Given the description of an element on the screen output the (x, y) to click on. 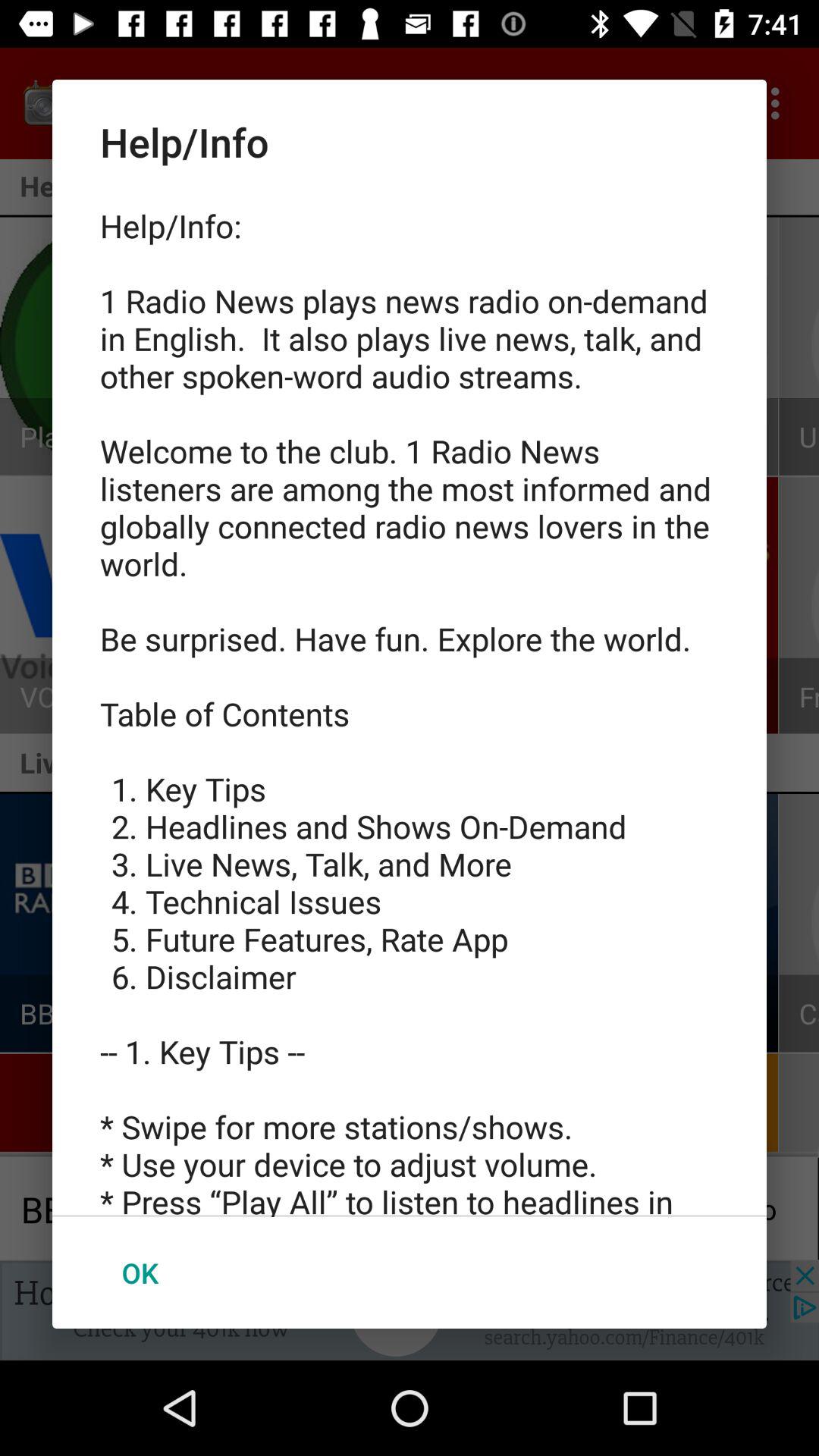
tap icon below help info 1 (139, 1272)
